Given the description of an element on the screen output the (x, y) to click on. 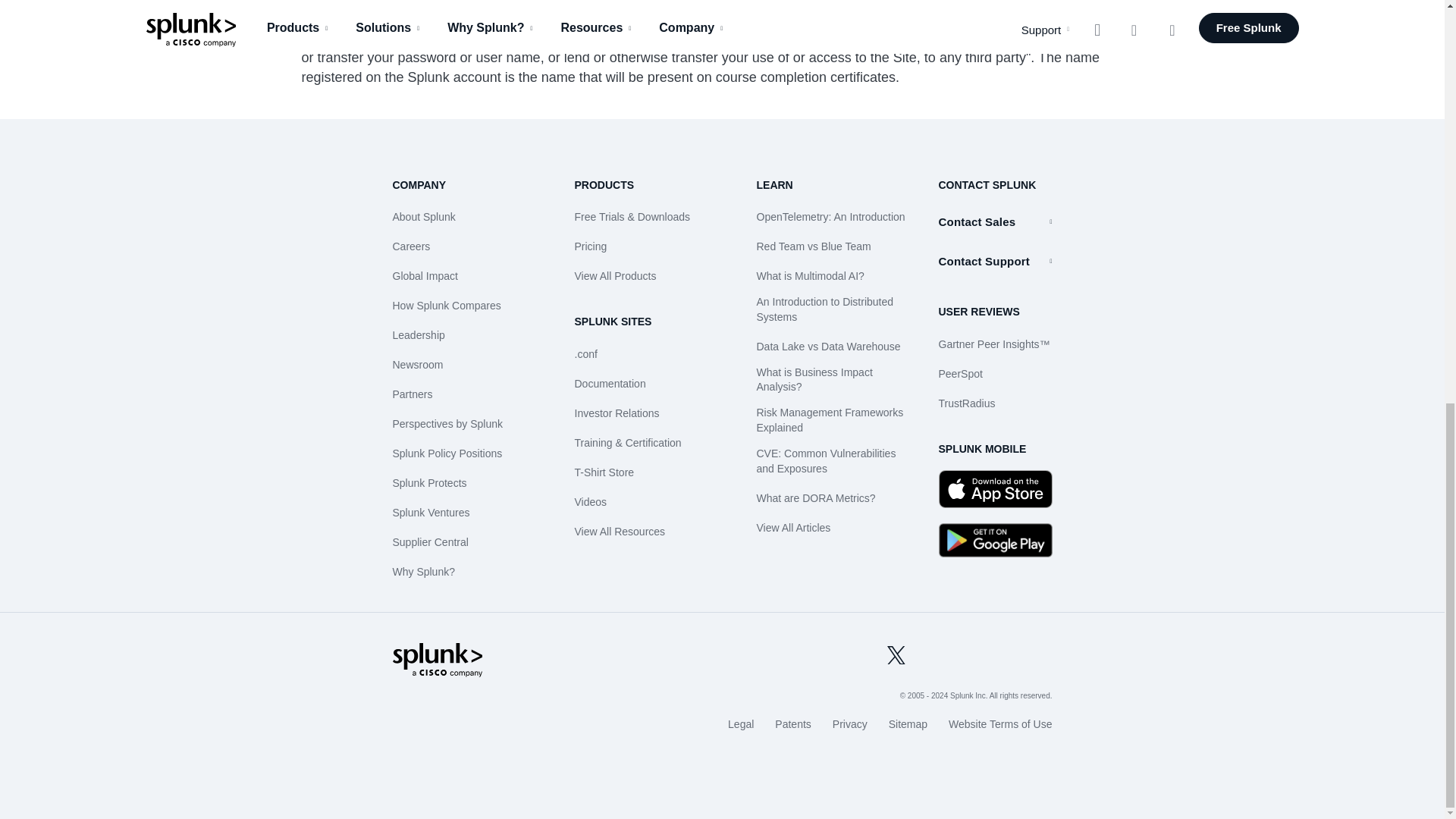
Linked In (968, 655)
Twitter (895, 655)
Instagram (1041, 655)
Facebook (932, 655)
Youtube (1004, 655)
